Given the description of an element on the screen output the (x, y) to click on. 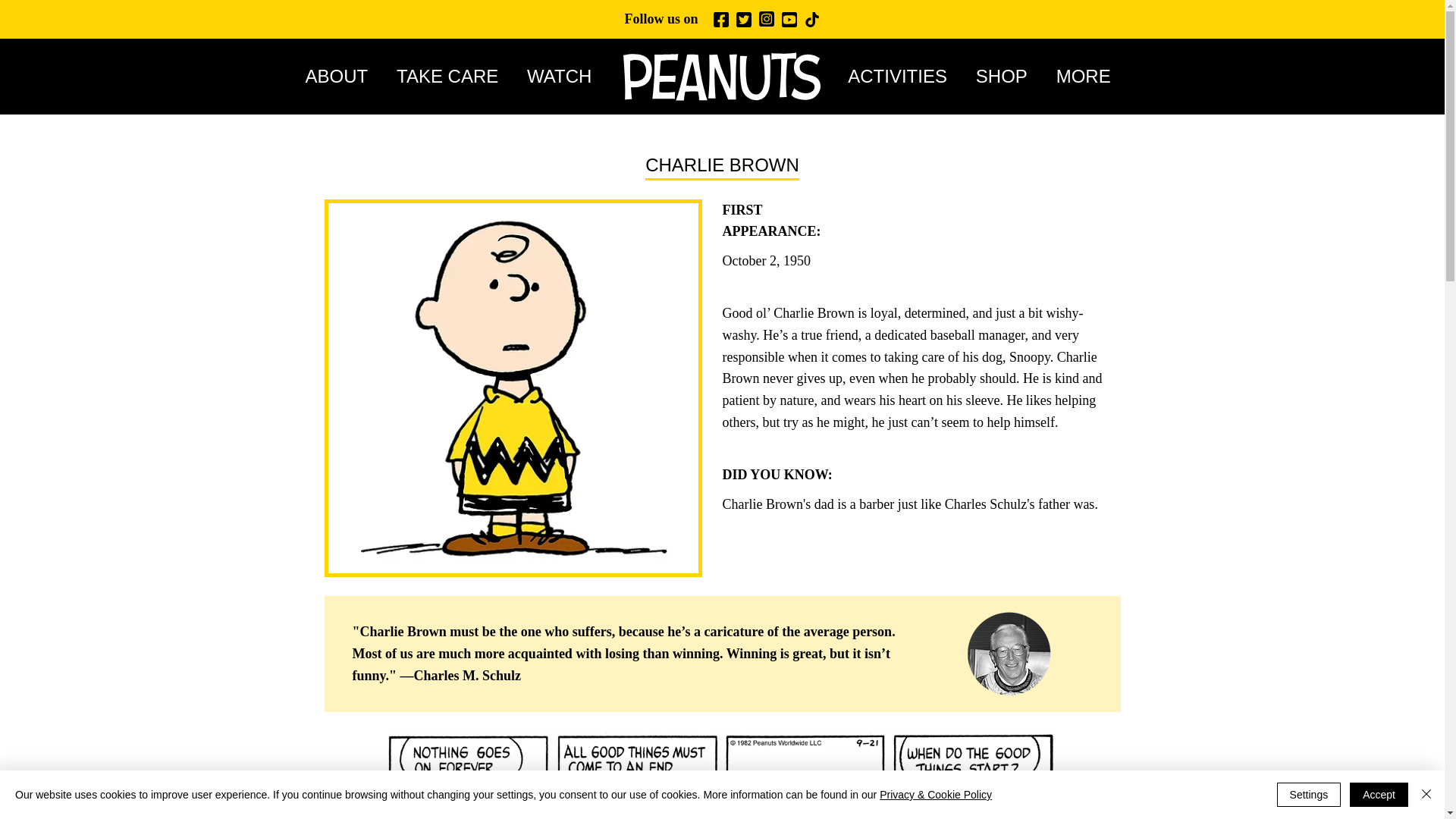
ABOUT (350, 76)
WATCH (573, 76)
TAKE CARE (461, 76)
ACTIVITIES (911, 76)
SHOP (1016, 76)
Charles M. Schulz (467, 675)
